Given the description of an element on the screen output the (x, y) to click on. 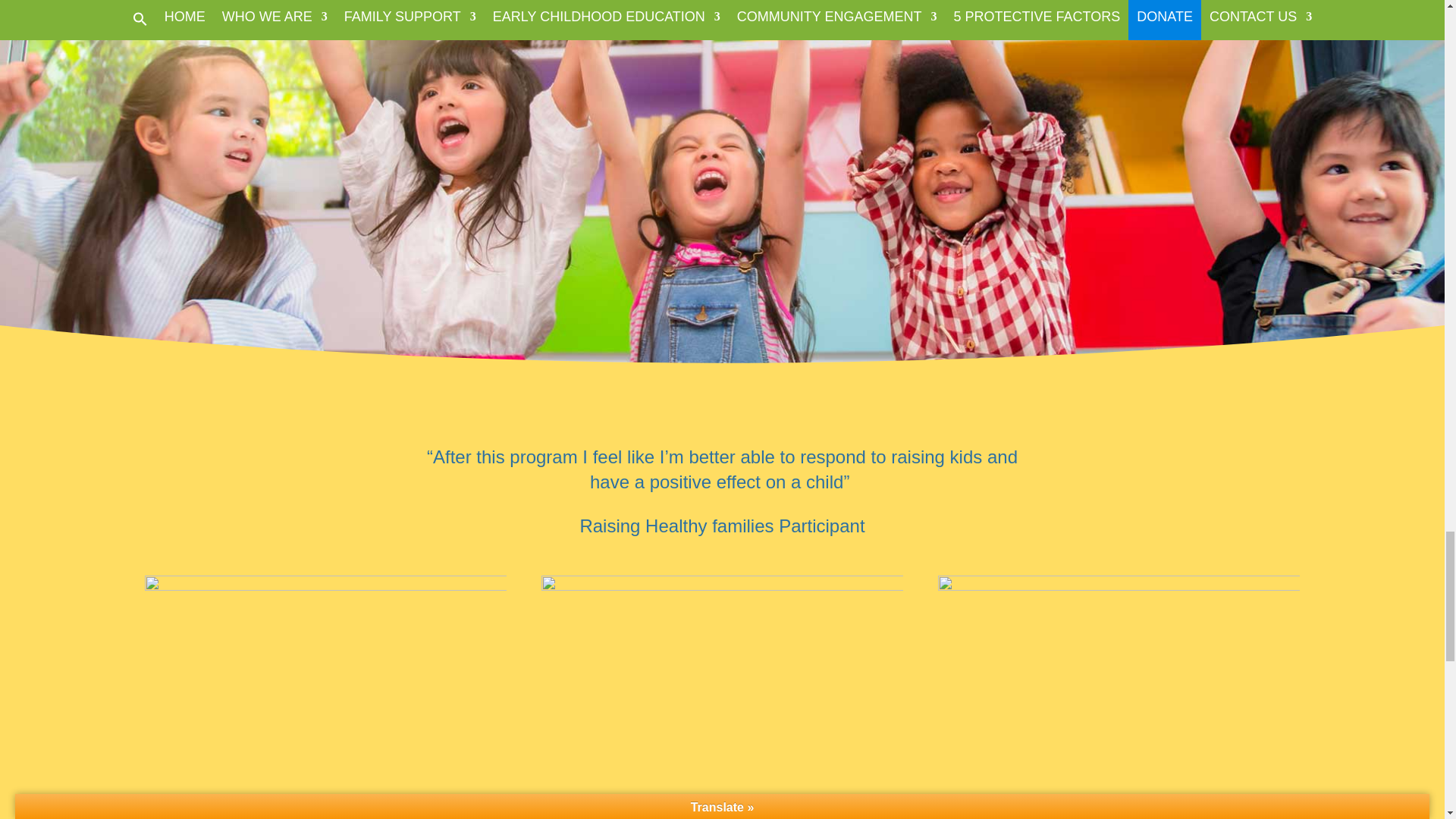
sidewalk-chalk-rainbow (722, 696)
mother-and-daughter-drawing (325, 696)
child-planting-with-father (1118, 696)
